Given the description of an element on the screen output the (x, y) to click on. 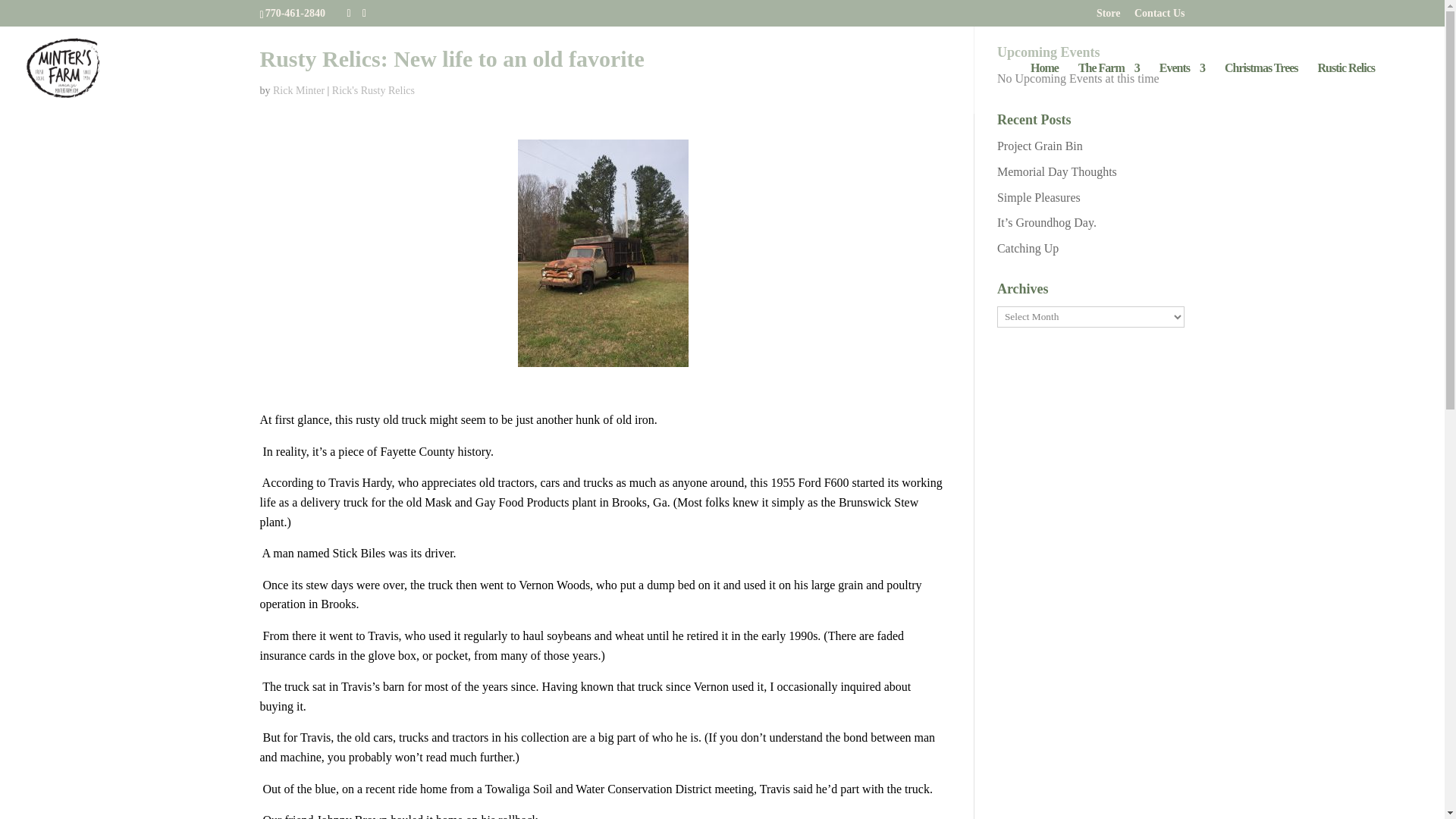
Contact Us (1159, 16)
Simple Pleasures (1038, 196)
The Farm (1109, 88)
Contact Us (1159, 16)
Christmas Trees (1261, 88)
Project Grain Bin (1040, 145)
Memorial Day Thoughts (1056, 171)
Trees (1261, 88)
Posts by Rick Minter (298, 90)
Rustic Relics (1345, 88)
Store (1108, 16)
Rick Minter (298, 90)
Store (1108, 16)
Rick's Rusty Relics (372, 90)
Events (1181, 88)
